Given the description of an element on the screen output the (x, y) to click on. 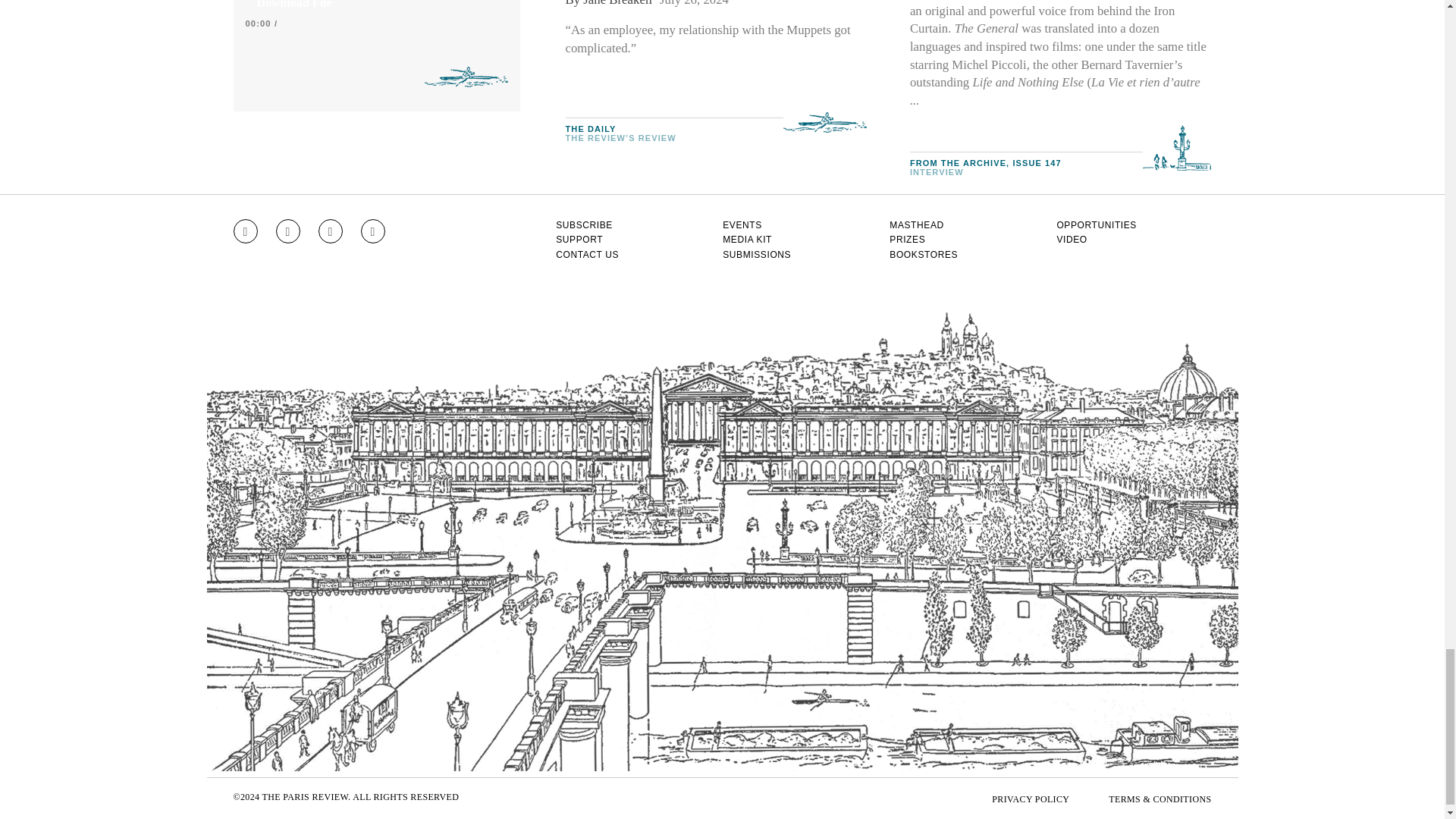
Go to Instagram feed (244, 231)
Go to Facebook page (287, 231)
Go to RSS feed (373, 231)
Go to Twitter feed (330, 231)
